Given the description of an element on the screen output the (x, y) to click on. 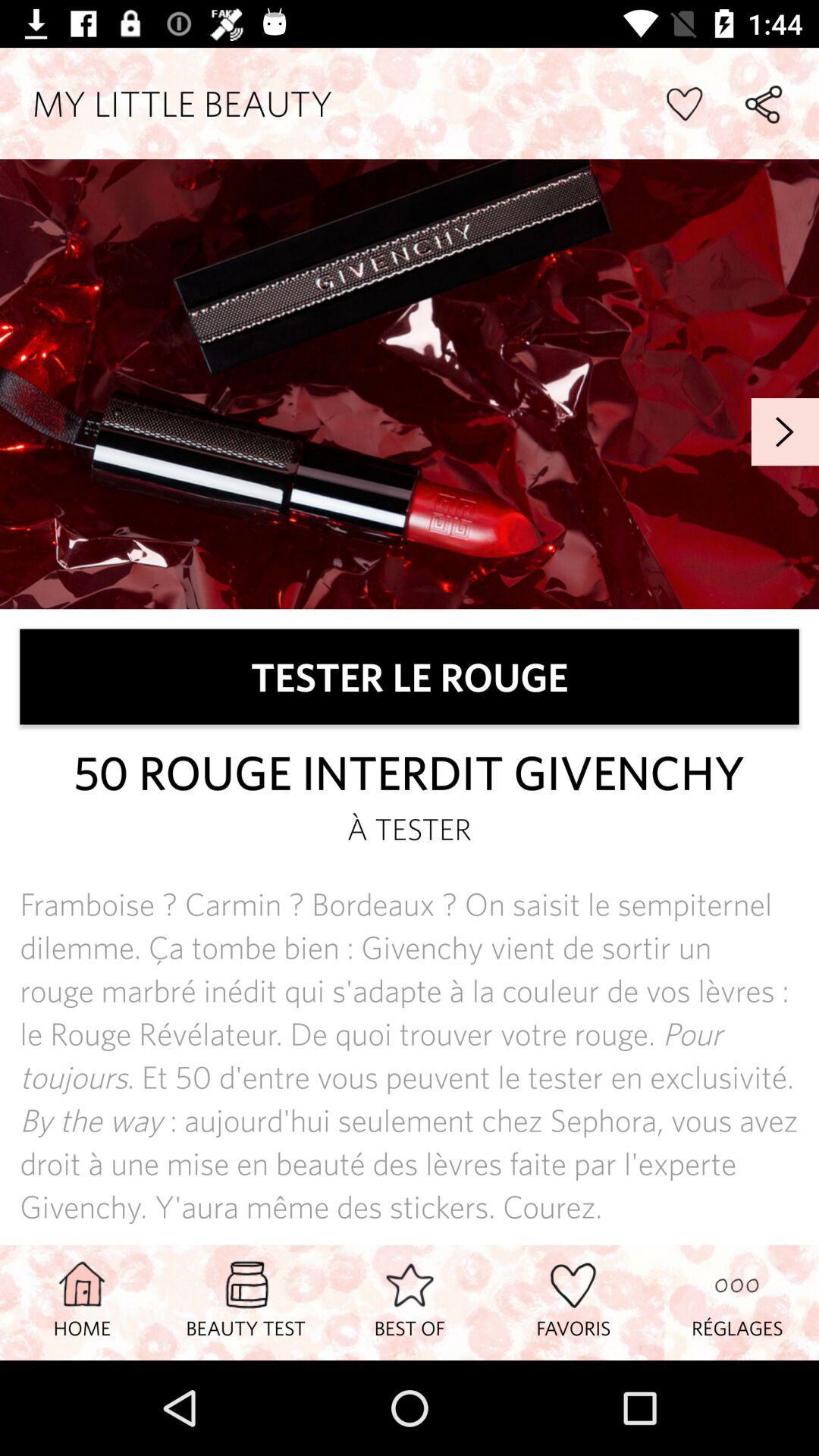
choose favourite symbol (683, 103)
